Given the description of an element on the screen output the (x, y) to click on. 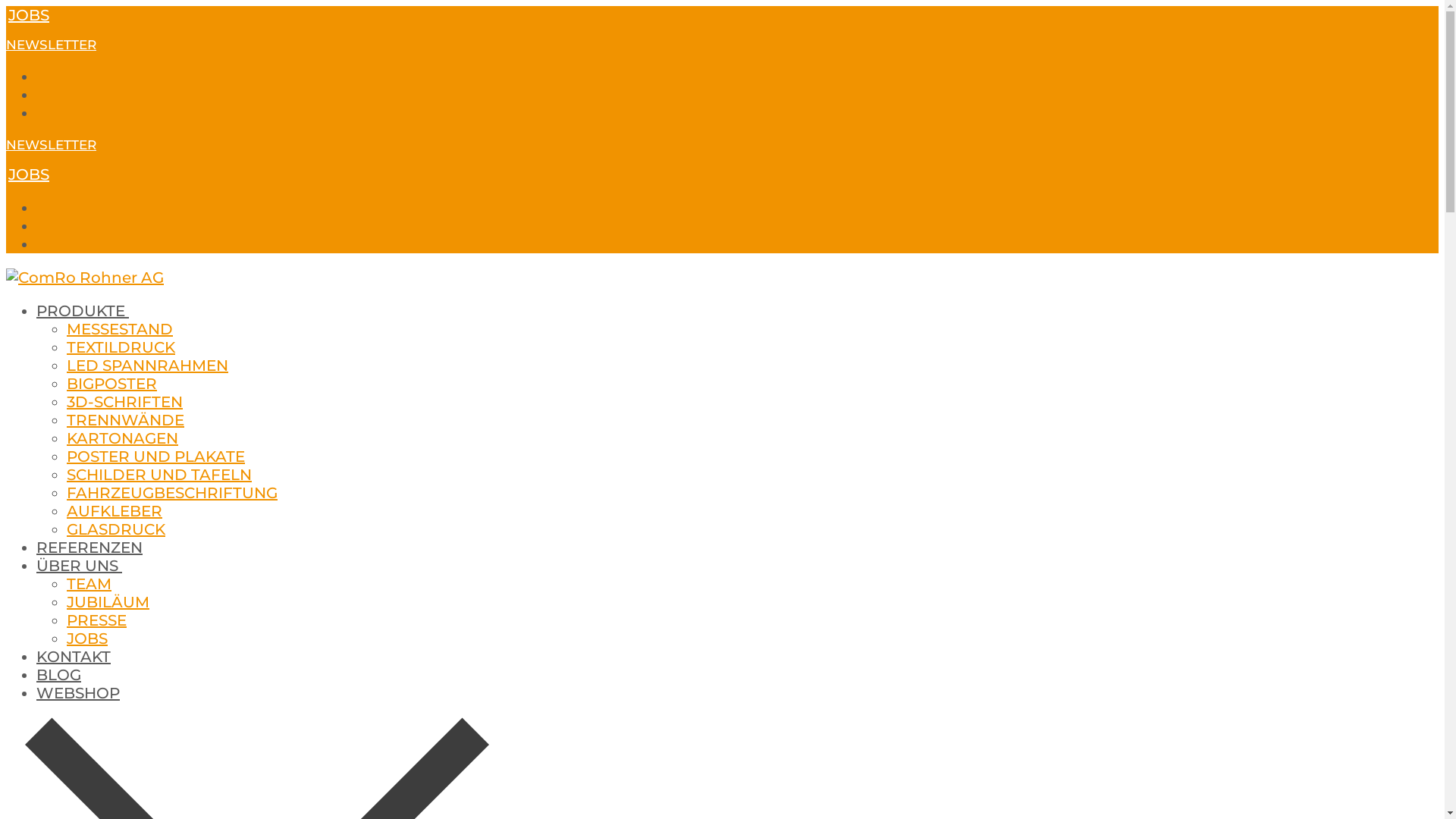
PRODUKTE  Element type: text (82, 310)
BIGPOSTER Element type: text (111, 383)
REFERENZEN Element type: text (89, 547)
LED SPANNRAHMEN Element type: text (147, 365)
JOBS Element type: text (28, 14)
3D-SCHRIFTEN Element type: text (124, 401)
NEWSLETTER Element type: text (51, 144)
GLASDRUCK Element type: text (115, 529)
JOBS Element type: text (28, 174)
KARTONAGEN Element type: text (122, 438)
Zum Inhalt springen Element type: text (5, 5)
POSTER UND PLAKATE Element type: text (155, 456)
BLOG Element type: text (58, 674)
MESSESTAND Element type: text (119, 329)
FAHRZEUGBESCHRIFTUNG Element type: text (171, 492)
PRESSE Element type: text (96, 620)
AUFKLEBER Element type: text (114, 511)
SCHILDER UND TAFELN Element type: text (158, 474)
WEBSHOP Element type: text (77, 693)
NEWSLETTER Element type: text (51, 44)
JOBS Element type: text (86, 638)
TEXTILDRUCK Element type: text (120, 347)
KONTAKT Element type: text (73, 656)
TEAM Element type: text (88, 583)
